Given the description of an element on the screen output the (x, y) to click on. 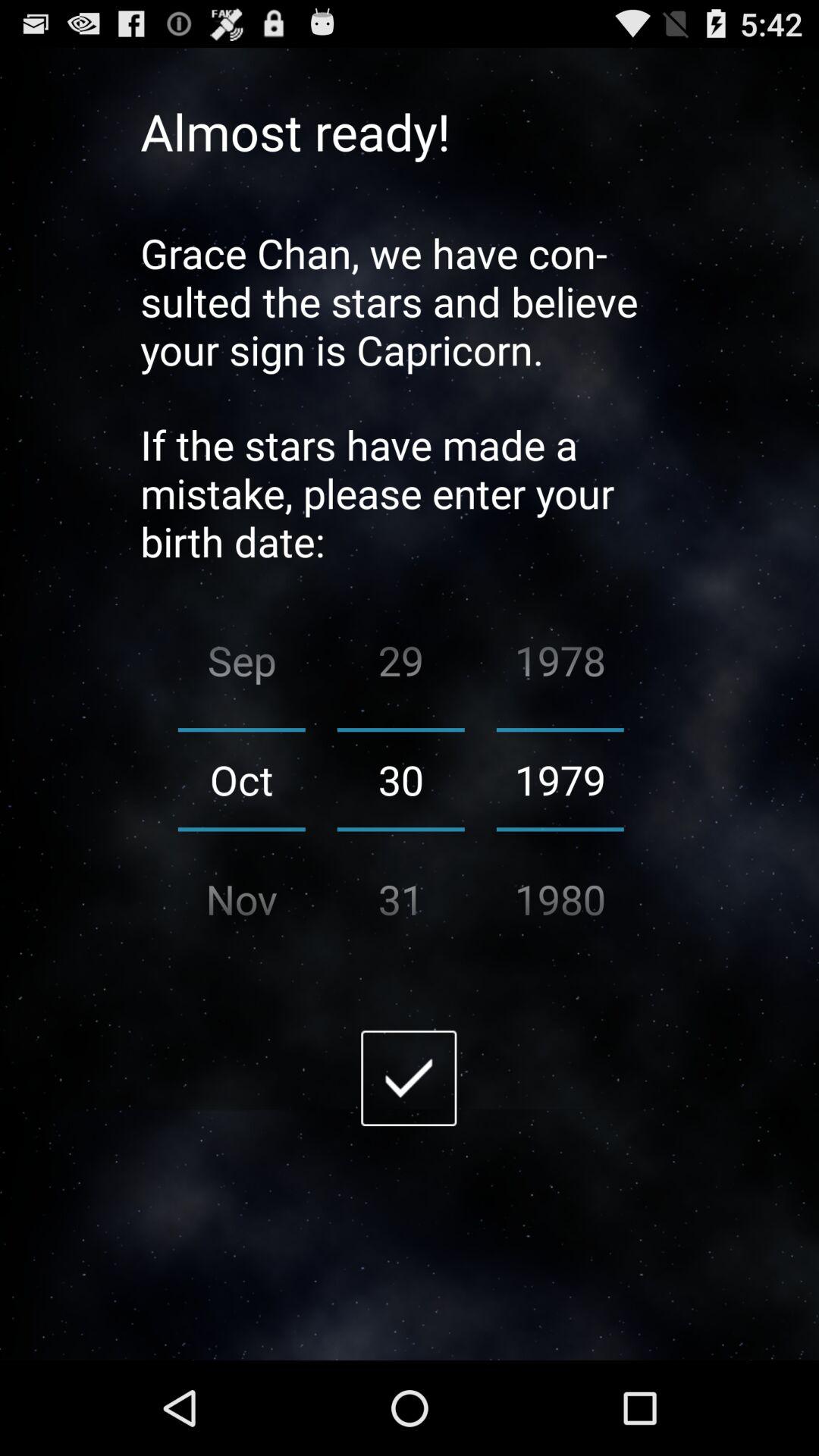
confirm birth date (408, 1078)
